Given the description of an element on the screen output the (x, y) to click on. 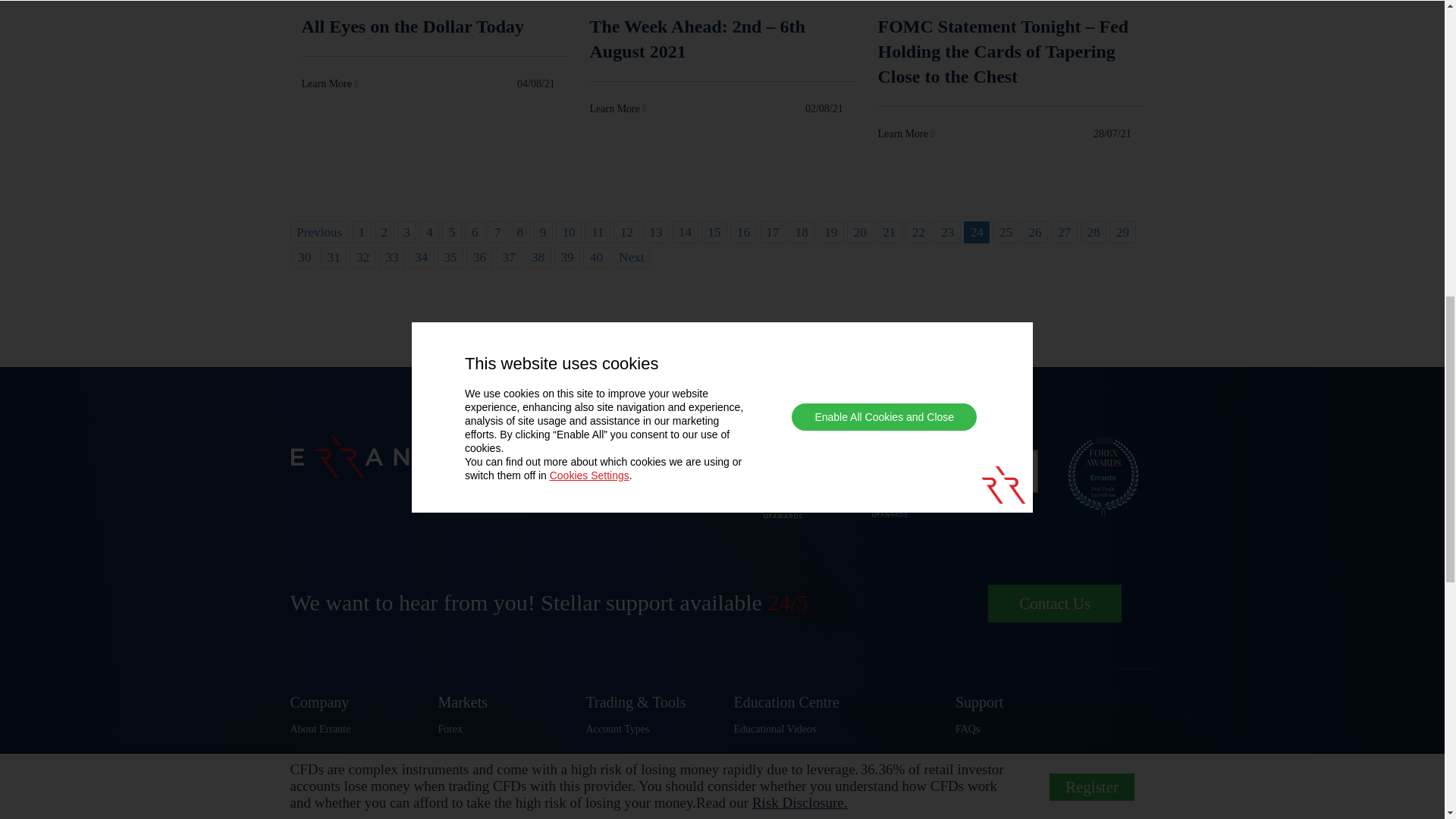
9 (542, 232)
14 (684, 232)
2 (384, 232)
11 (597, 232)
12 (625, 232)
4 (429, 232)
3 (406, 232)
10 (568, 232)
5 (451, 232)
15 (713, 232)
16 (742, 232)
13 (655, 232)
8 (520, 232)
17 (773, 232)
6 (474, 232)
